Given the description of an element on the screen output the (x, y) to click on. 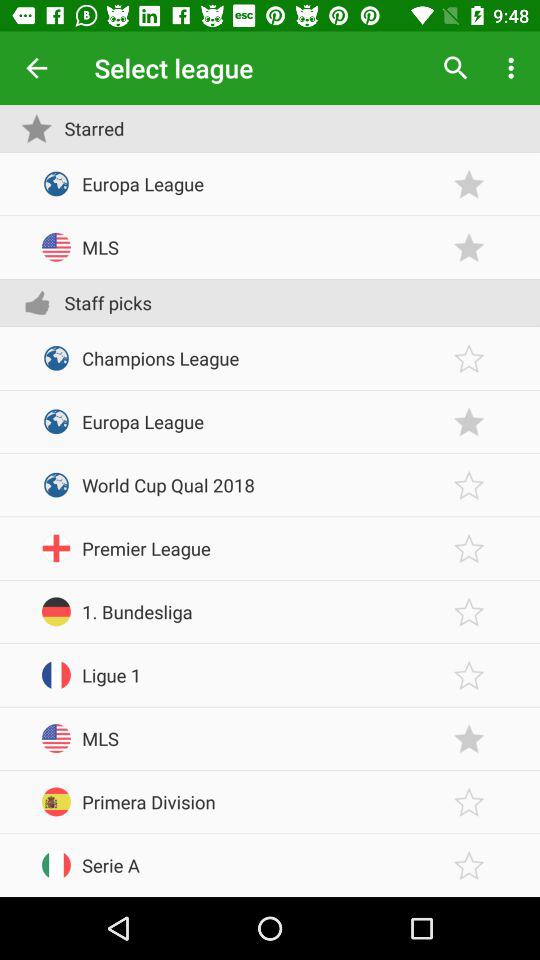
mark as favorite (469, 183)
